Given the description of an element on the screen output the (x, y) to click on. 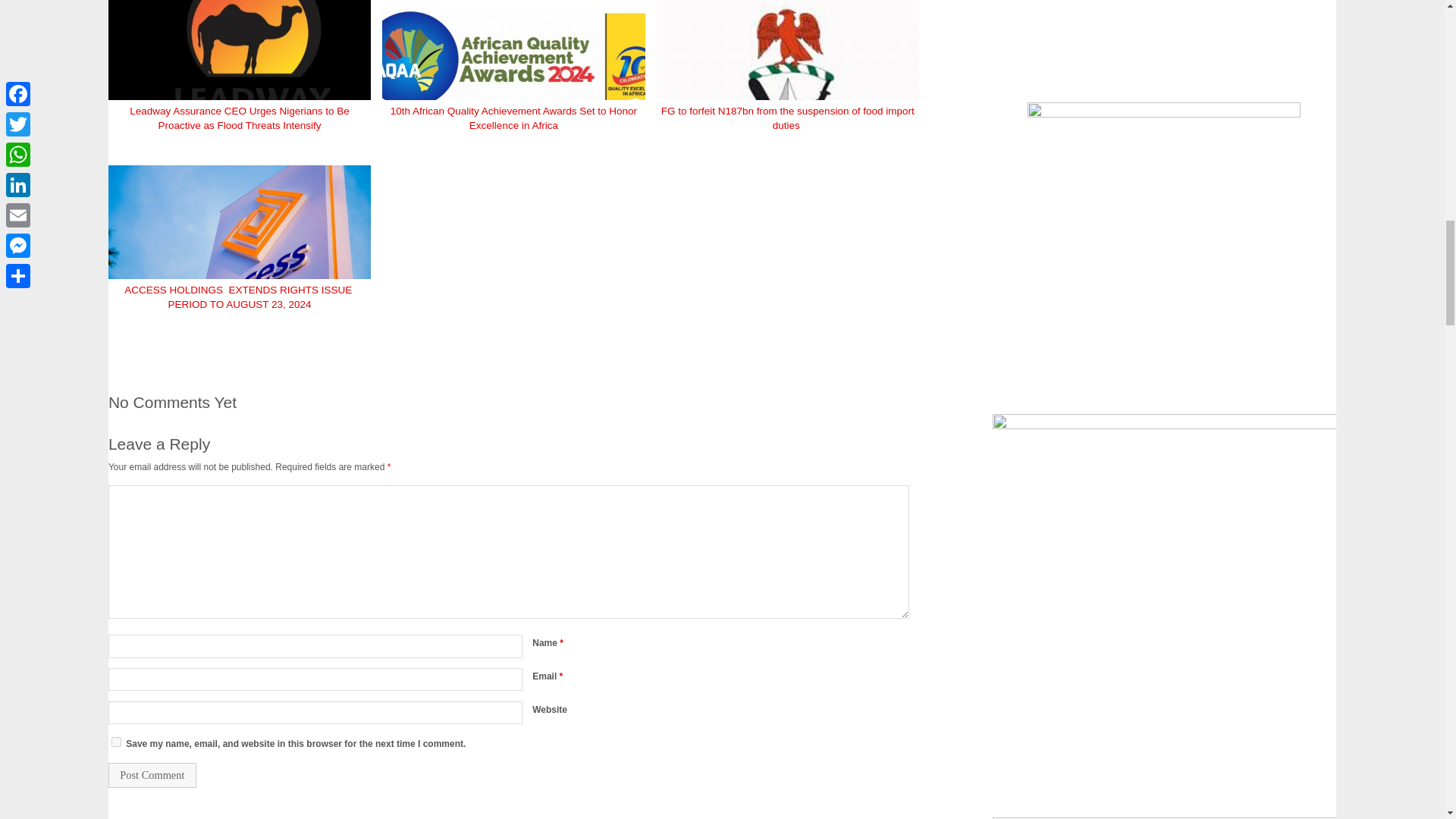
Post Comment (151, 774)
yes (116, 741)
